Given the description of an element on the screen output the (x, y) to click on. 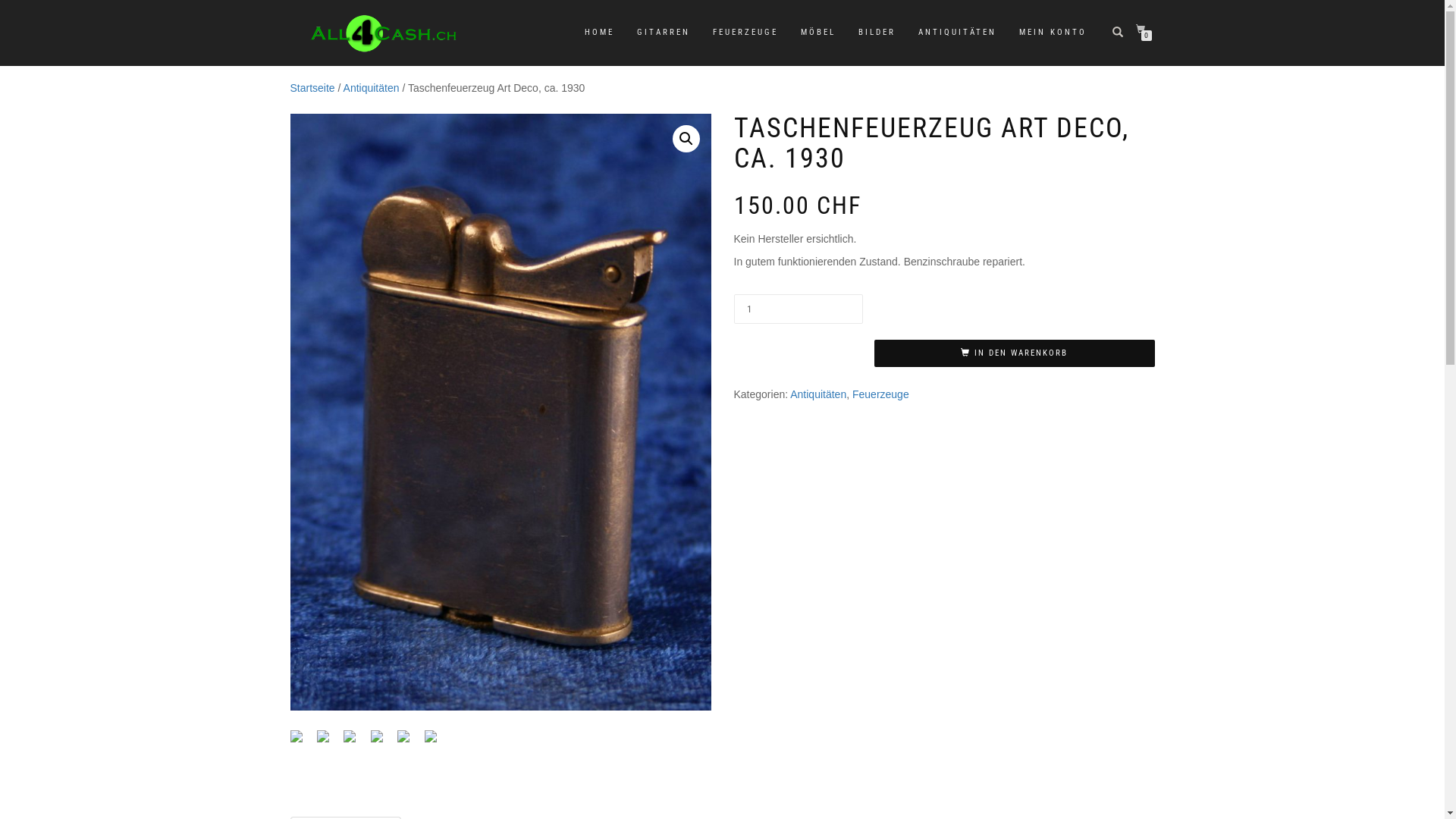
0 Element type: text (1143, 29)
HOME Element type: text (599, 32)
GITARREN Element type: text (662, 32)
MEIN KONTO Element type: text (1052, 32)
IN DEN WARENKORB Element type: text (1013, 353)
IMG_2646 Element type: hover (499, 411)
Feuerzeuge Element type: text (880, 394)
Menge Element type: hover (798, 308)
FEUERZEUGE Element type: text (744, 32)
BILDER Element type: text (876, 32)
Startseite Element type: text (311, 87)
